Given the description of an element on the screen output the (x, y) to click on. 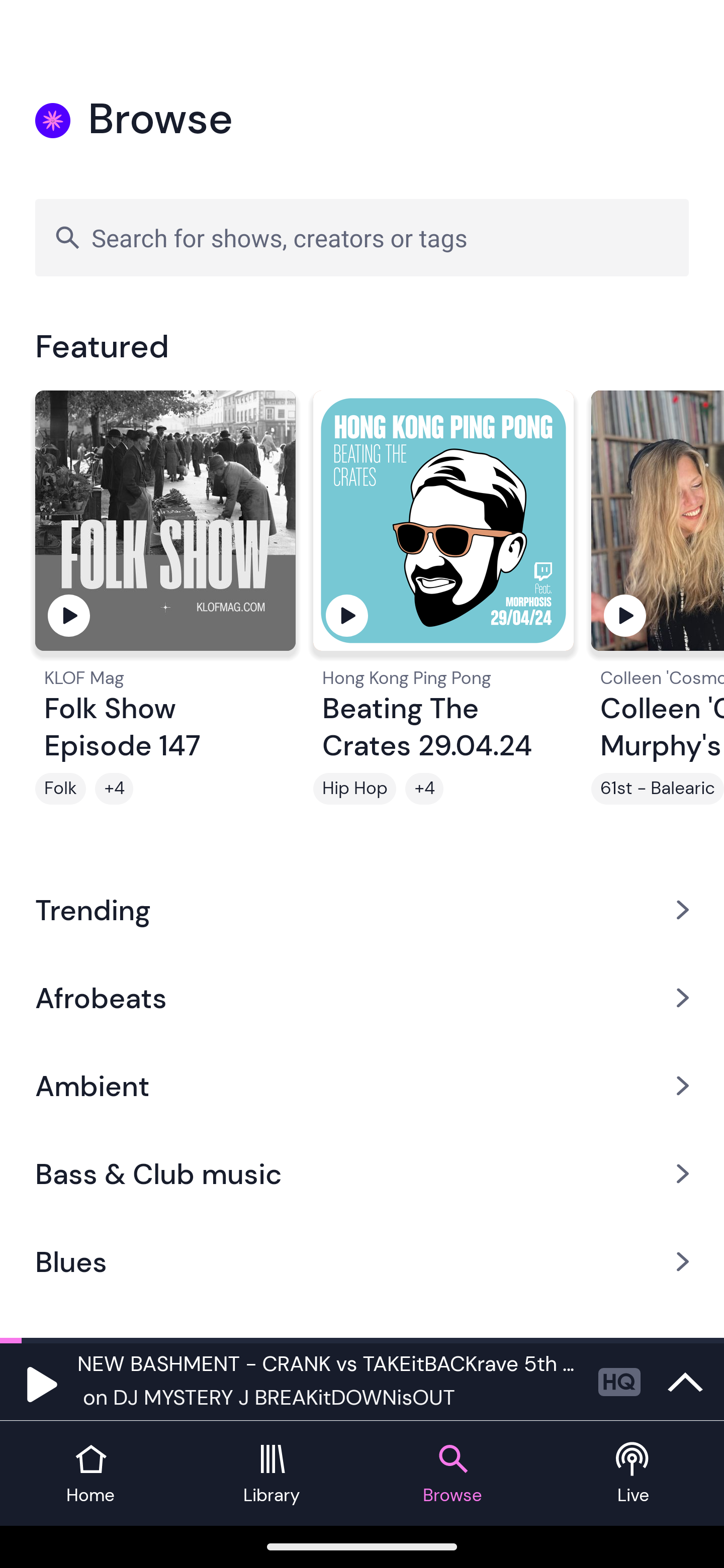
Search for shows, creators or tags (361, 237)
Folk (60, 788)
Hip Hop (354, 788)
61st - Balearic (657, 788)
Trending (361, 909)
Afrobeats (361, 997)
Ambient (361, 1085)
Bass & Club music (361, 1174)
Blues (361, 1262)
Home tab Home (90, 1473)
Library tab Library (271, 1473)
Browse tab Browse (452, 1473)
Live tab Live (633, 1473)
